Given the description of an element on the screen output the (x, y) to click on. 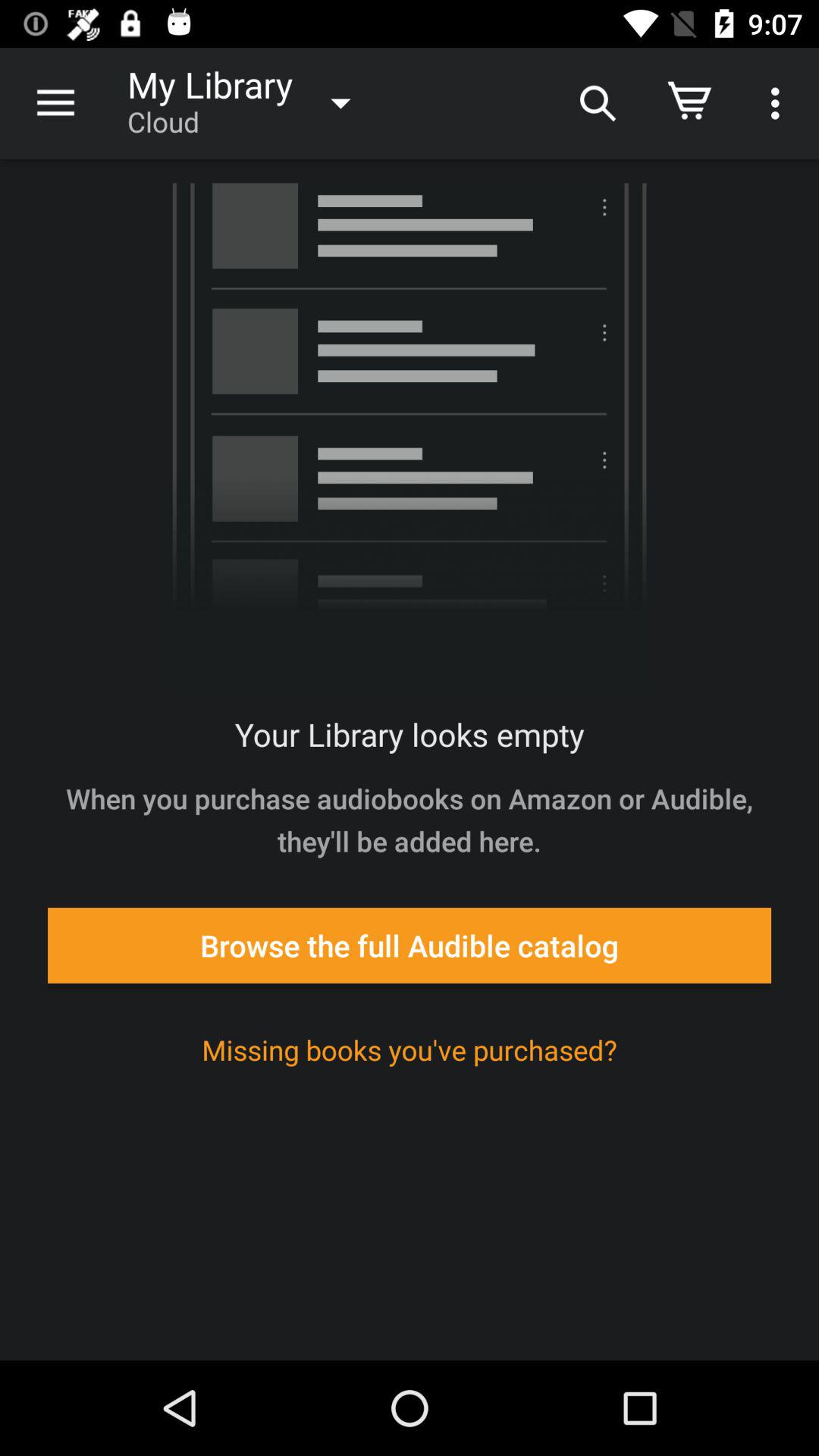
press icon below browse the full icon (409, 1049)
